Given the description of an element on the screen output the (x, y) to click on. 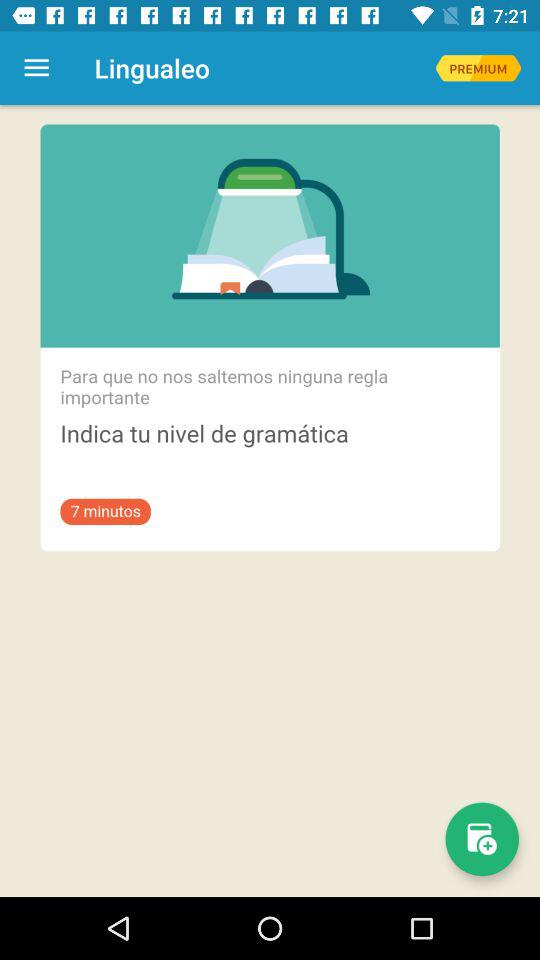
add contact (482, 839)
